Given the description of an element on the screen output the (x, y) to click on. 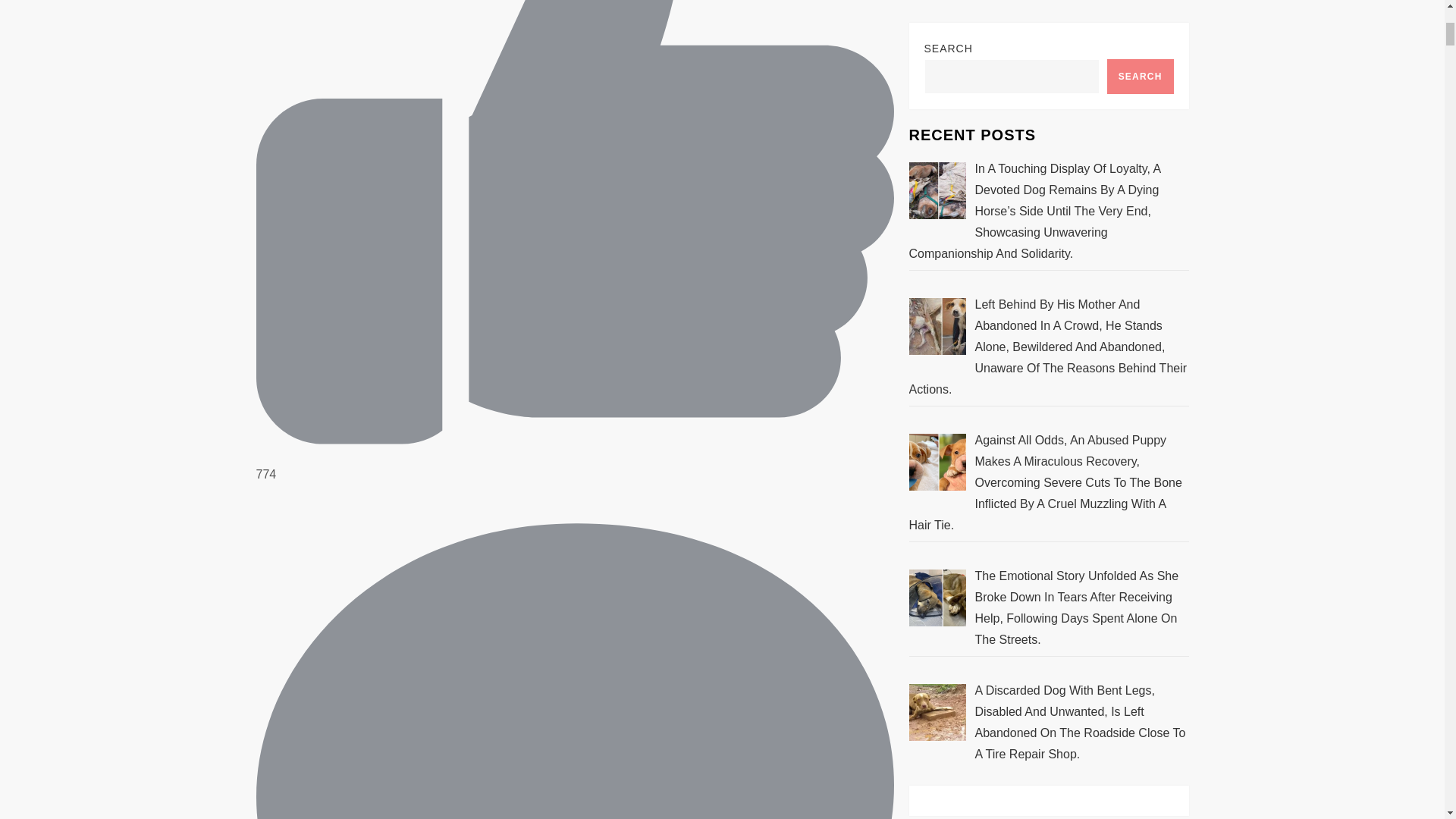
Disclaimer (936, 517)
Privacy Policy (946, 452)
Terms And Conditions (967, 485)
